Given the description of an element on the screen output the (x, y) to click on. 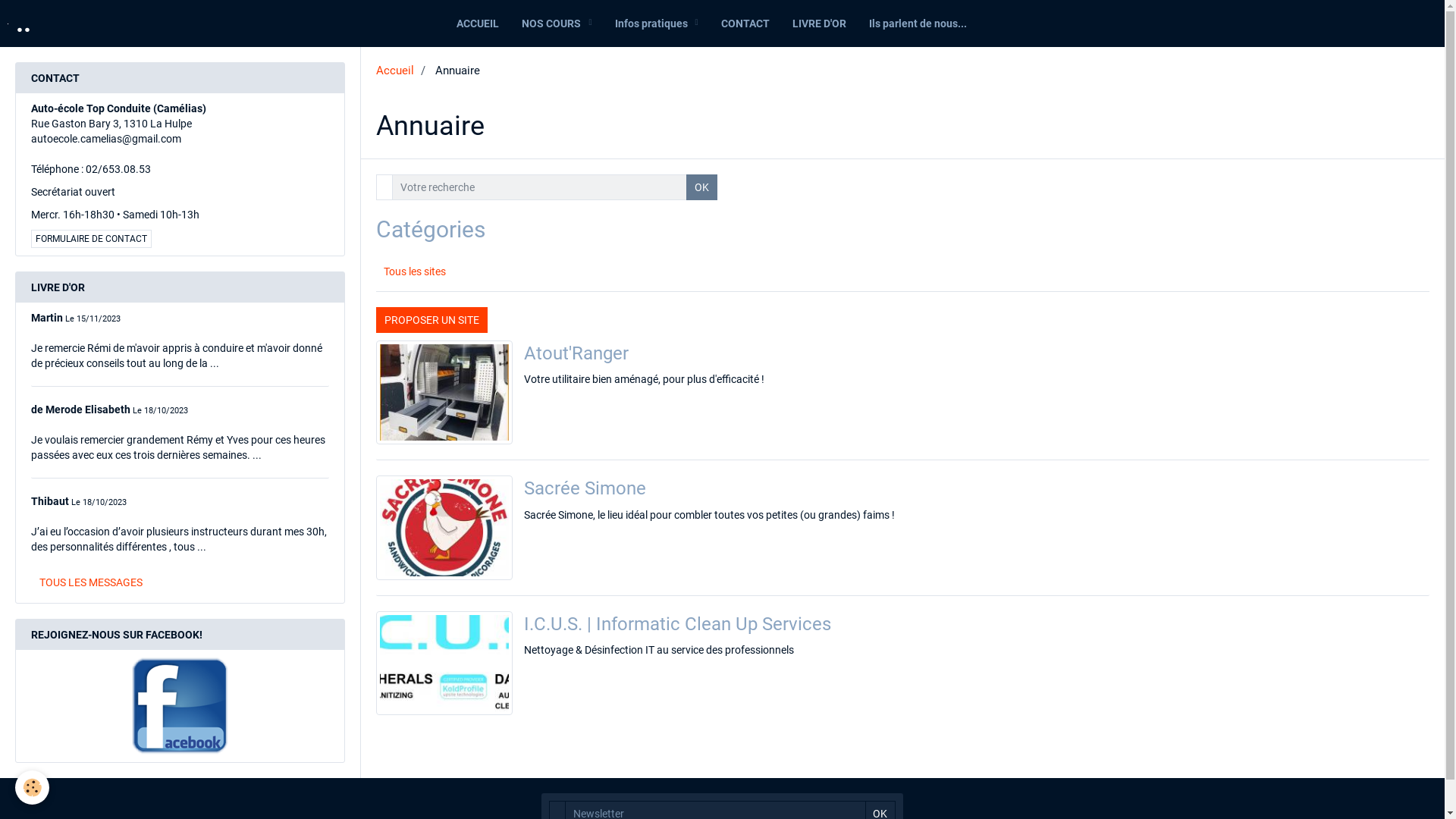
.. Element type: text (19, 23)
Infos pratiques Element type: text (656, 23)
PROPOSER UN SITE Element type: text (431, 319)
LIVRE D'OR Element type: text (819, 23)
I.C.U.S. | Informatic Clean Up Services Element type: text (677, 622)
ACCUEIL Element type: text (477, 23)
OK Element type: text (701, 187)
Atout'Ranger Element type: text (576, 352)
Accueil Element type: text (395, 70)
Tous les sites Element type: text (507, 271)
FORMULAIRE DE CONTACT Element type: text (91, 238)
CONTACT Element type: text (745, 23)
Ils parlent de nous... Element type: text (917, 23)
NOS COURS Element type: text (556, 23)
TOUS LES MESSAGES Element type: text (90, 582)
